Given the description of an element on the screen output the (x, y) to click on. 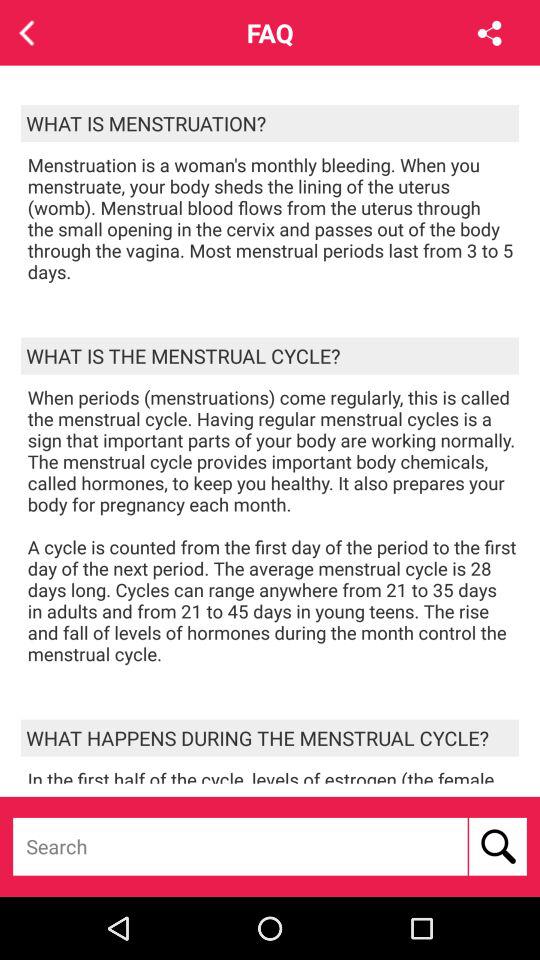
select the item at the bottom right corner (497, 846)
